Given the description of an element on the screen output the (x, y) to click on. 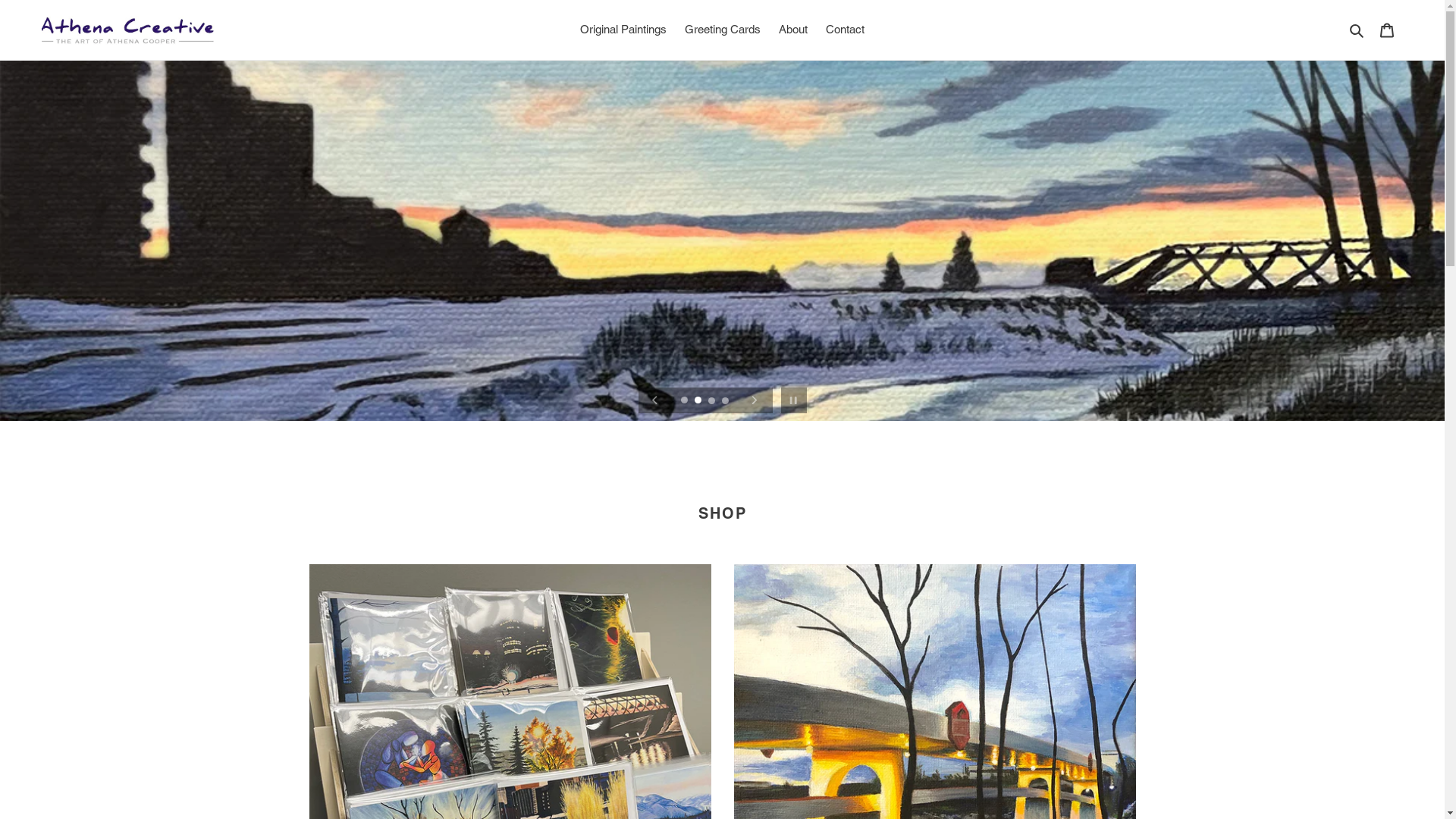
Contact Element type: text (845, 29)
Pause slideshow Element type: text (792, 400)
Greeting Cards Element type: text (722, 29)
Cart Element type: text (1386, 29)
Original Paintings Element type: text (623, 29)
Search Element type: text (1357, 29)
About Element type: text (793, 29)
